Given the description of an element on the screen output the (x, y) to click on. 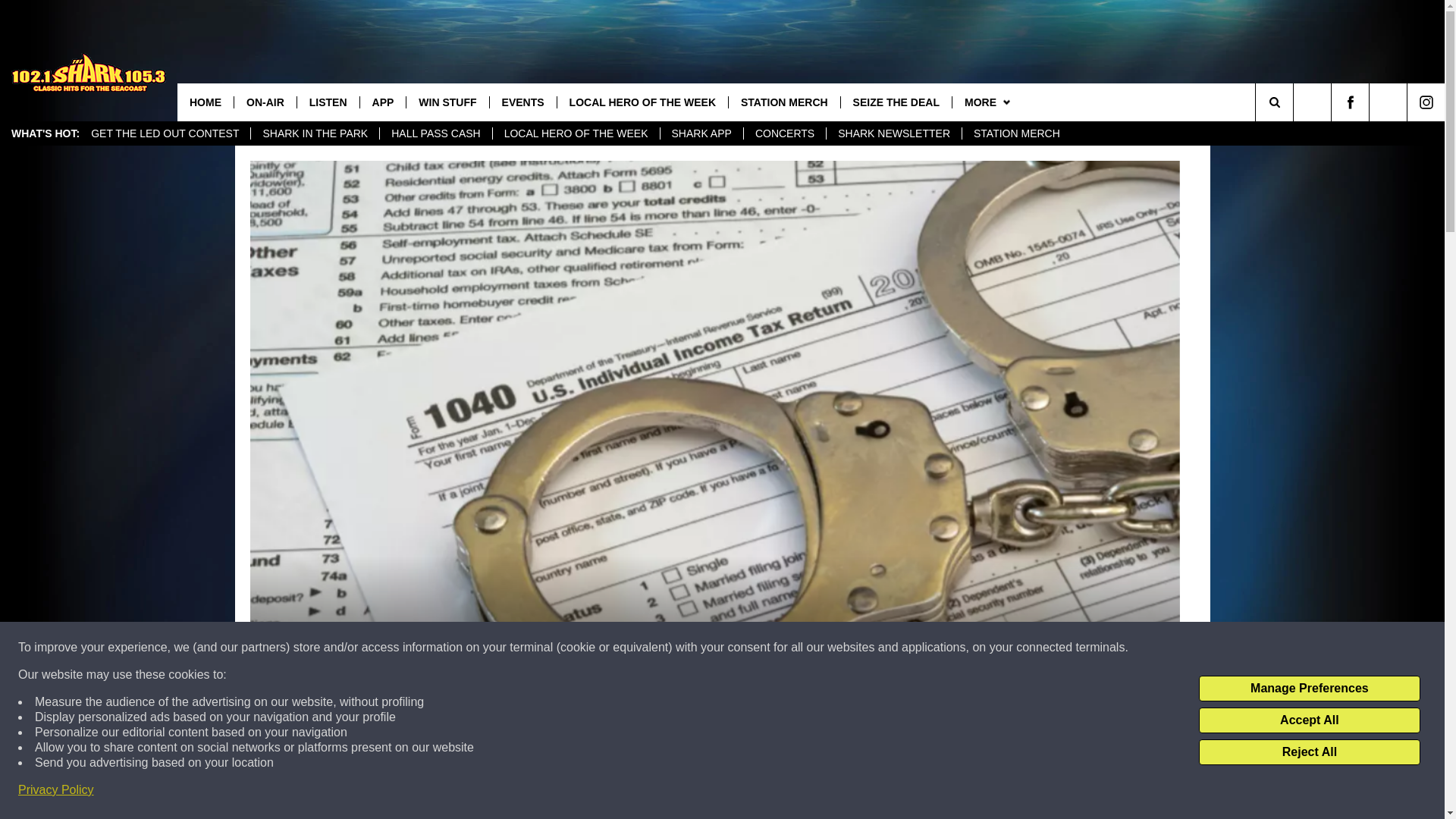
SHARK NEWSLETTER (892, 133)
EVENTS (522, 102)
STATION MERCH (1015, 133)
LOCAL HERO OF THE WEEK (575, 133)
Manage Preferences (1309, 688)
Accept All (1309, 720)
LISTEN (328, 102)
APP (382, 102)
ON-AIR (264, 102)
HALL PASS CASH (435, 133)
WIN STUFF (446, 102)
SHARK IN THE PARK (314, 133)
Share on Facebook (517, 791)
Privacy Policy (55, 789)
Share on Twitter (912, 791)
